Given the description of an element on the screen output the (x, y) to click on. 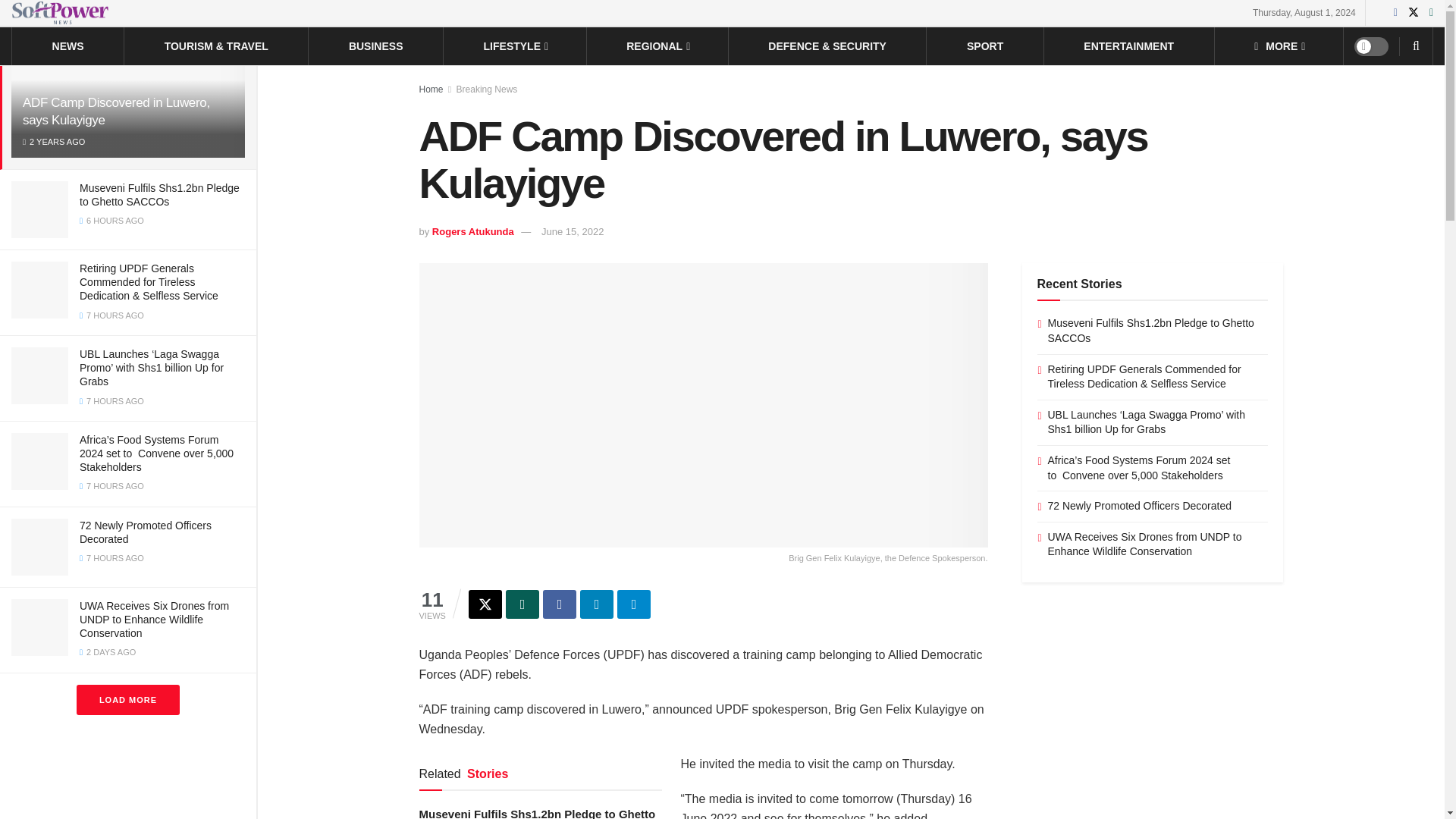
LOAD MORE (128, 699)
REGIONAL (656, 46)
72 Newly Promoted Officers Decorated (145, 532)
LIFESTYLE (515, 46)
BUSINESS (376, 46)
NEWS (68, 46)
Museveni Fulfils Shs1.2bn Pledge to Ghetto SACCOs (160, 194)
MORE (1278, 46)
ENTERTAINMENT (1128, 46)
ADF Camp Discovered in Luwero, says Kulayigye (116, 111)
SPORT (984, 46)
